Given the description of an element on the screen output the (x, y) to click on. 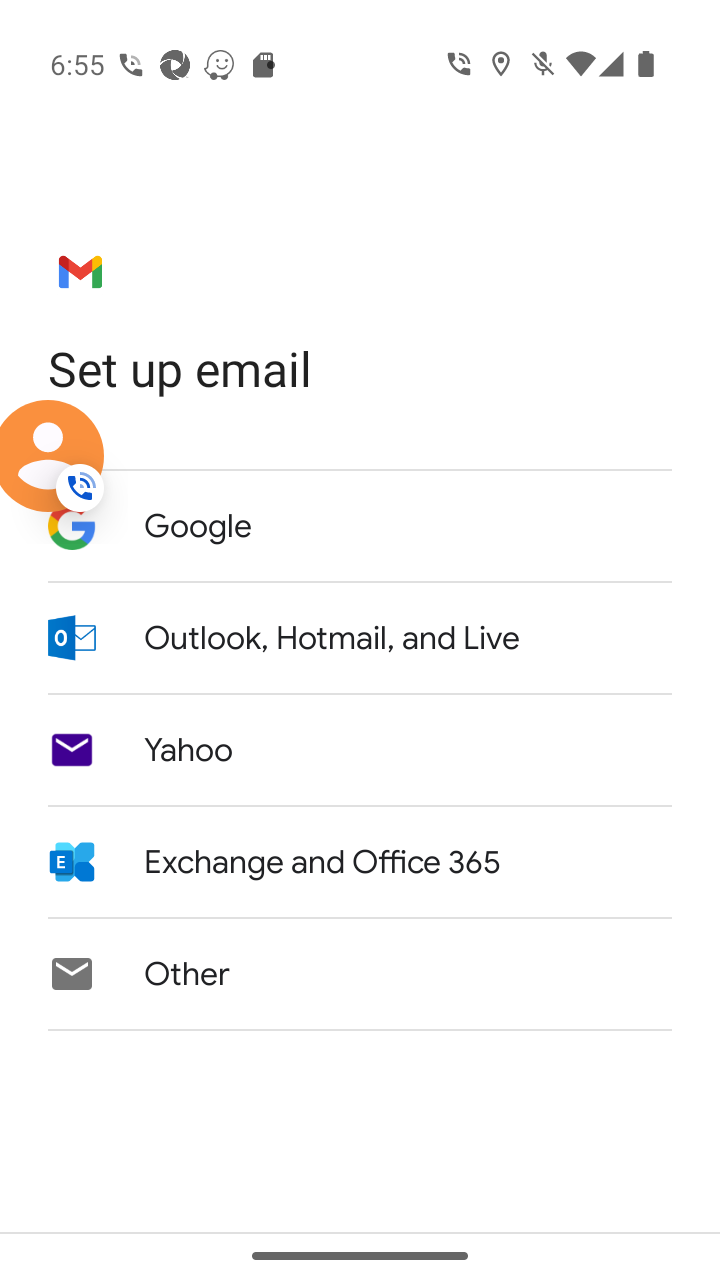
Google (360, 526)
Outlook, Hotmail, and Live (360, 637)
Yahoo (360, 750)
Exchange and Office 365 (360, 861)
Other (360, 974)
